Given the description of an element on the screen output the (x, y) to click on. 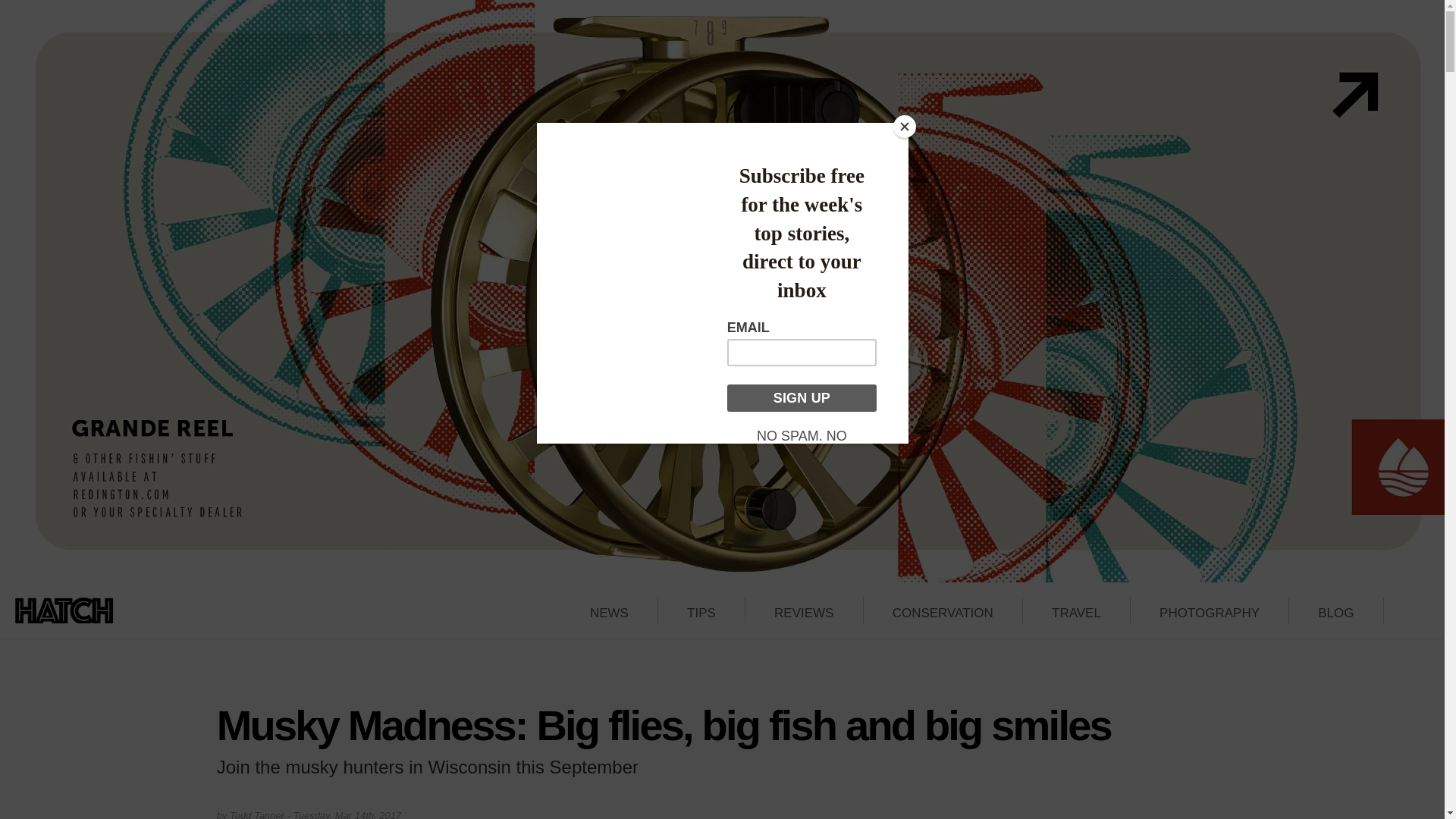
Musky Madness: Big flies, big fish and big smiles (663, 725)
BLOG (1335, 613)
